Given the description of an element on the screen output the (x, y) to click on. 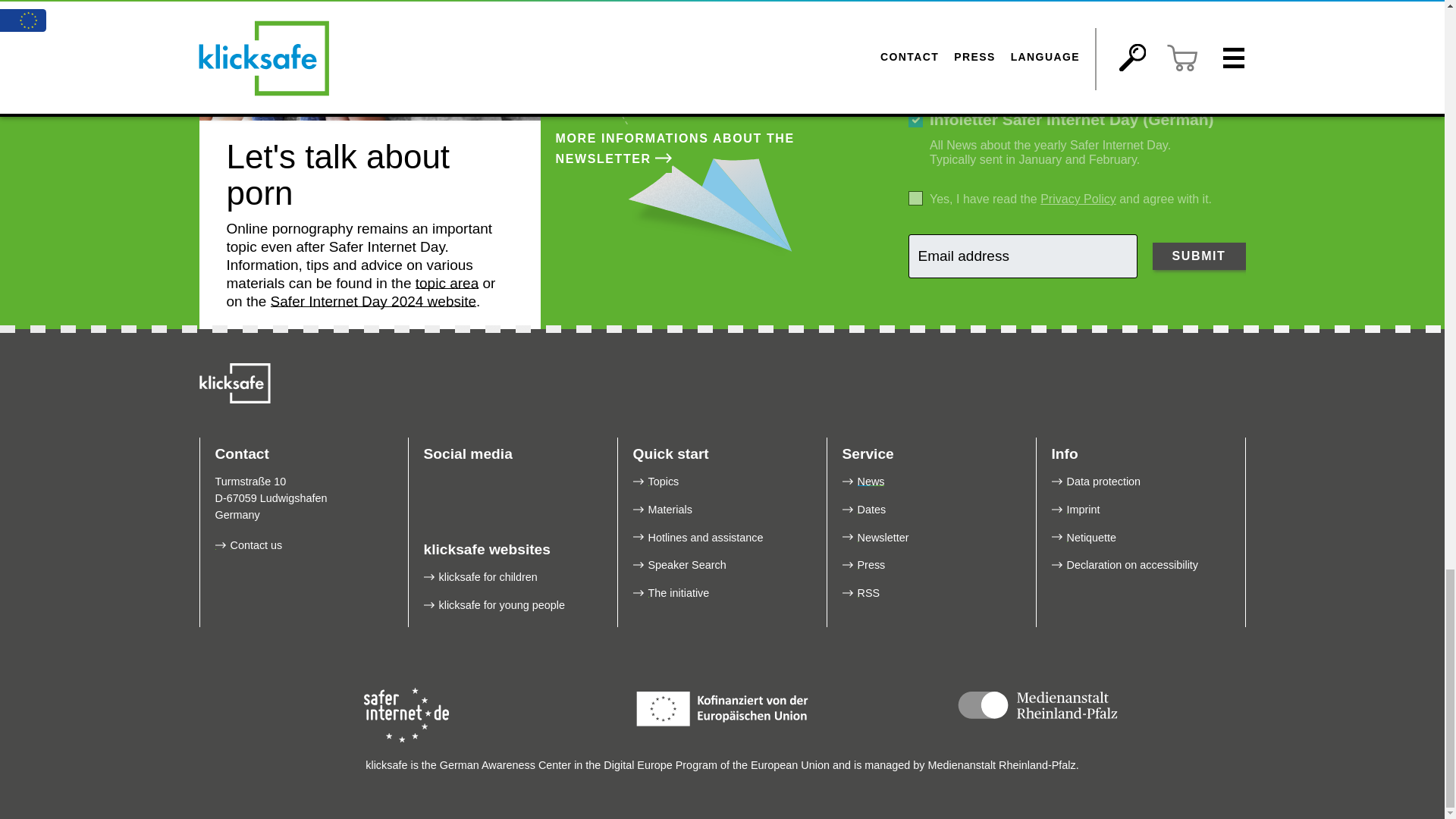
1 (915, 48)
Let's talk about porn (369, 60)
1 (915, 120)
1 (915, 197)
